Given the description of an element on the screen output the (x, y) to click on. 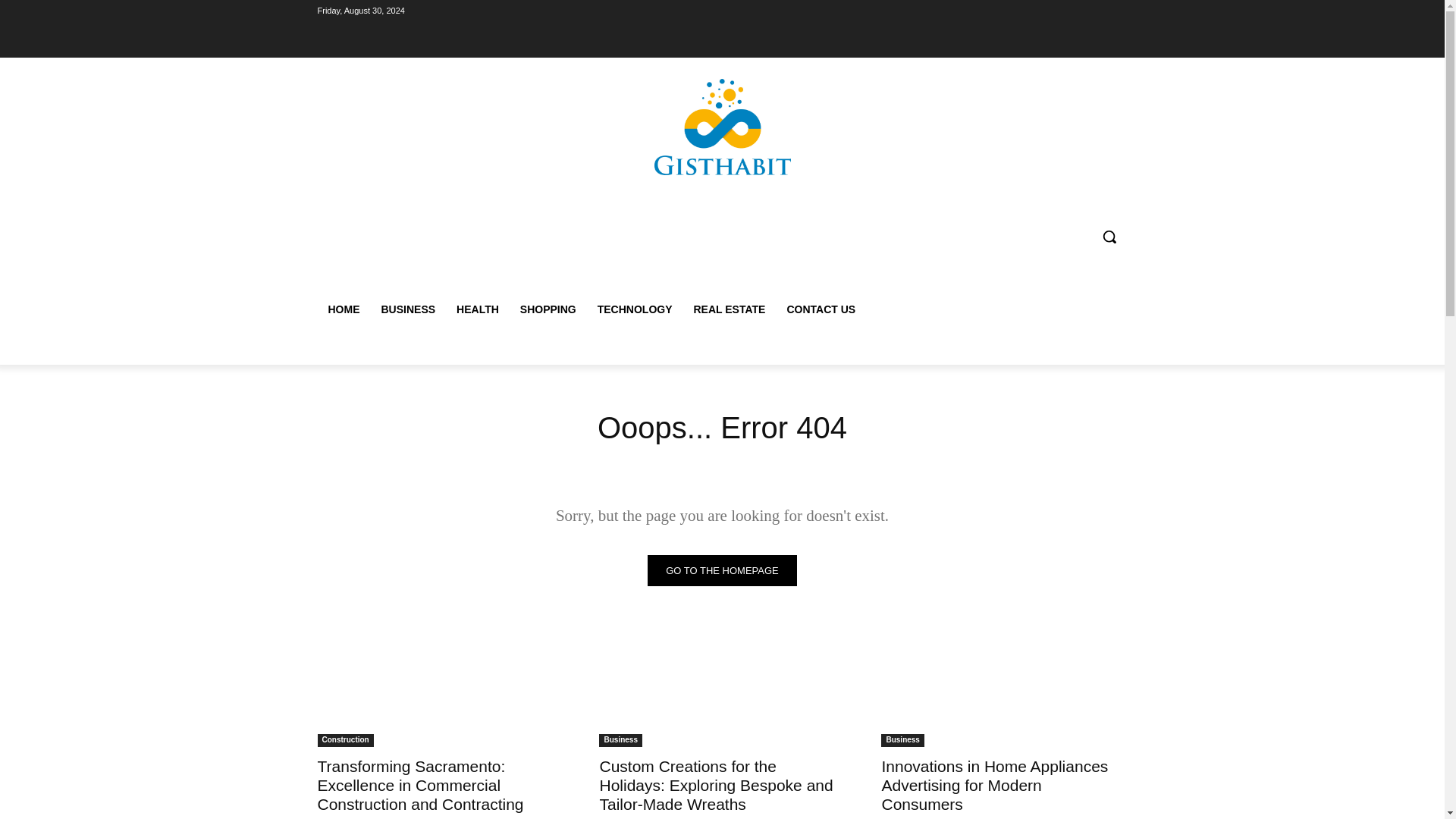
Business (901, 739)
HEALTH (477, 309)
GO TO THE HOMEPAGE (721, 570)
SHOPPING (547, 309)
BUSINESS (407, 309)
REAL ESTATE (729, 309)
Construction (344, 739)
